Given the description of an element on the screen output the (x, y) to click on. 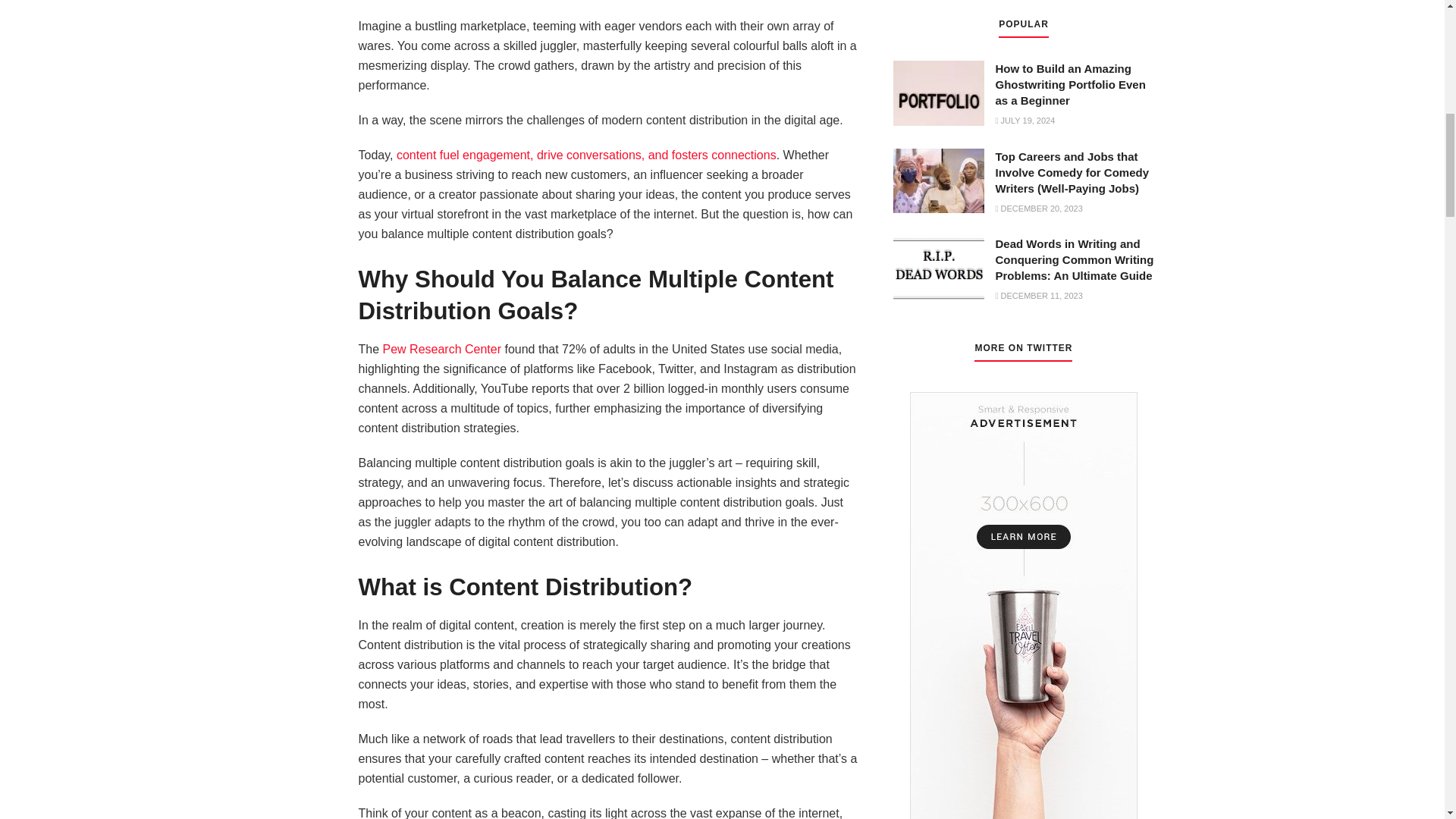
Pew Research Center (442, 349)
